Given the description of an element on the screen output the (x, y) to click on. 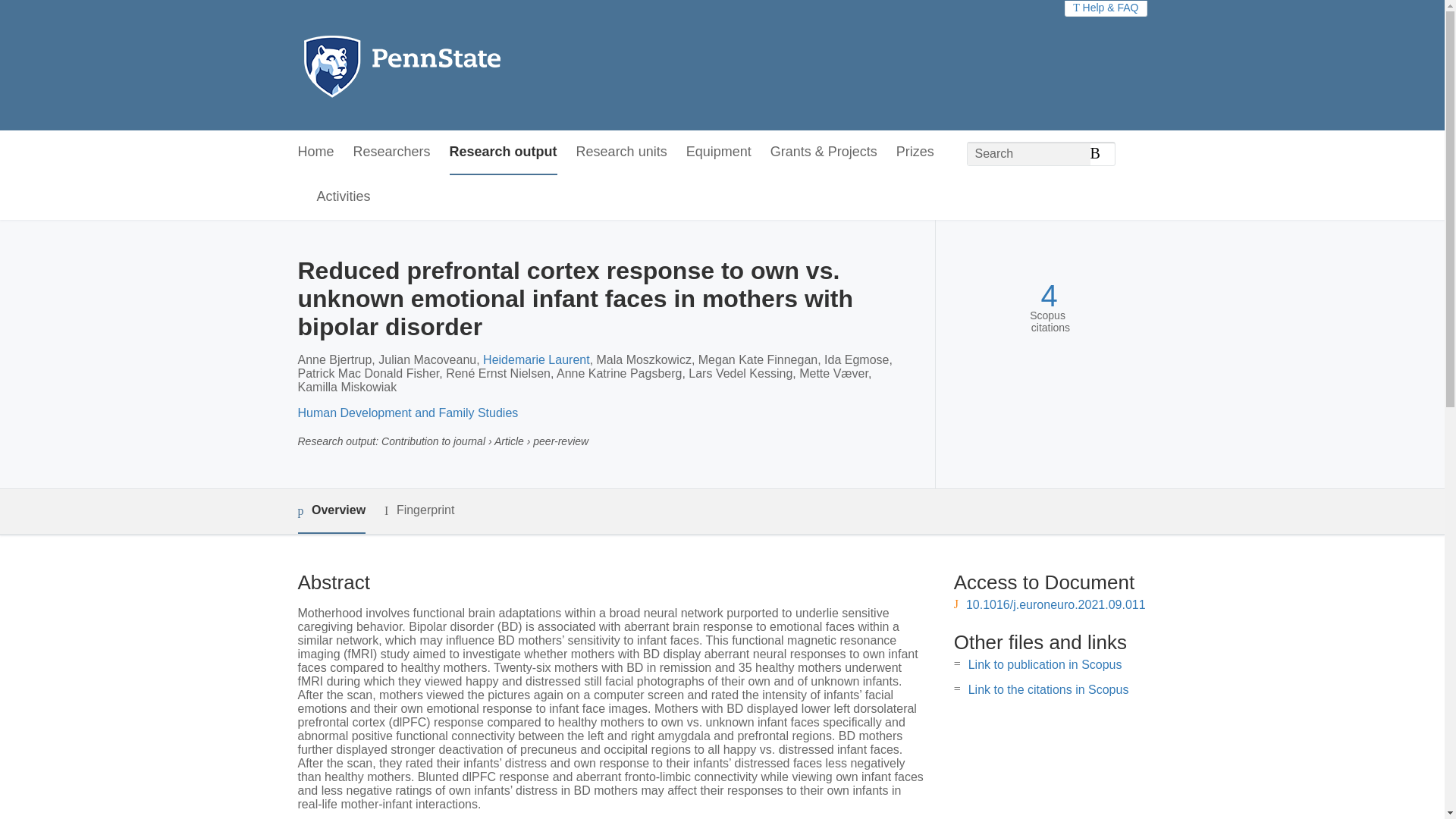
Researchers (391, 152)
Research output (503, 152)
Human Development and Family Studies (407, 412)
Heidemarie Laurent (536, 359)
Activities (344, 197)
Link to publication in Scopus (1045, 664)
Equipment (718, 152)
Overview (331, 510)
Fingerprint (419, 510)
